Given the description of an element on the screen output the (x, y) to click on. 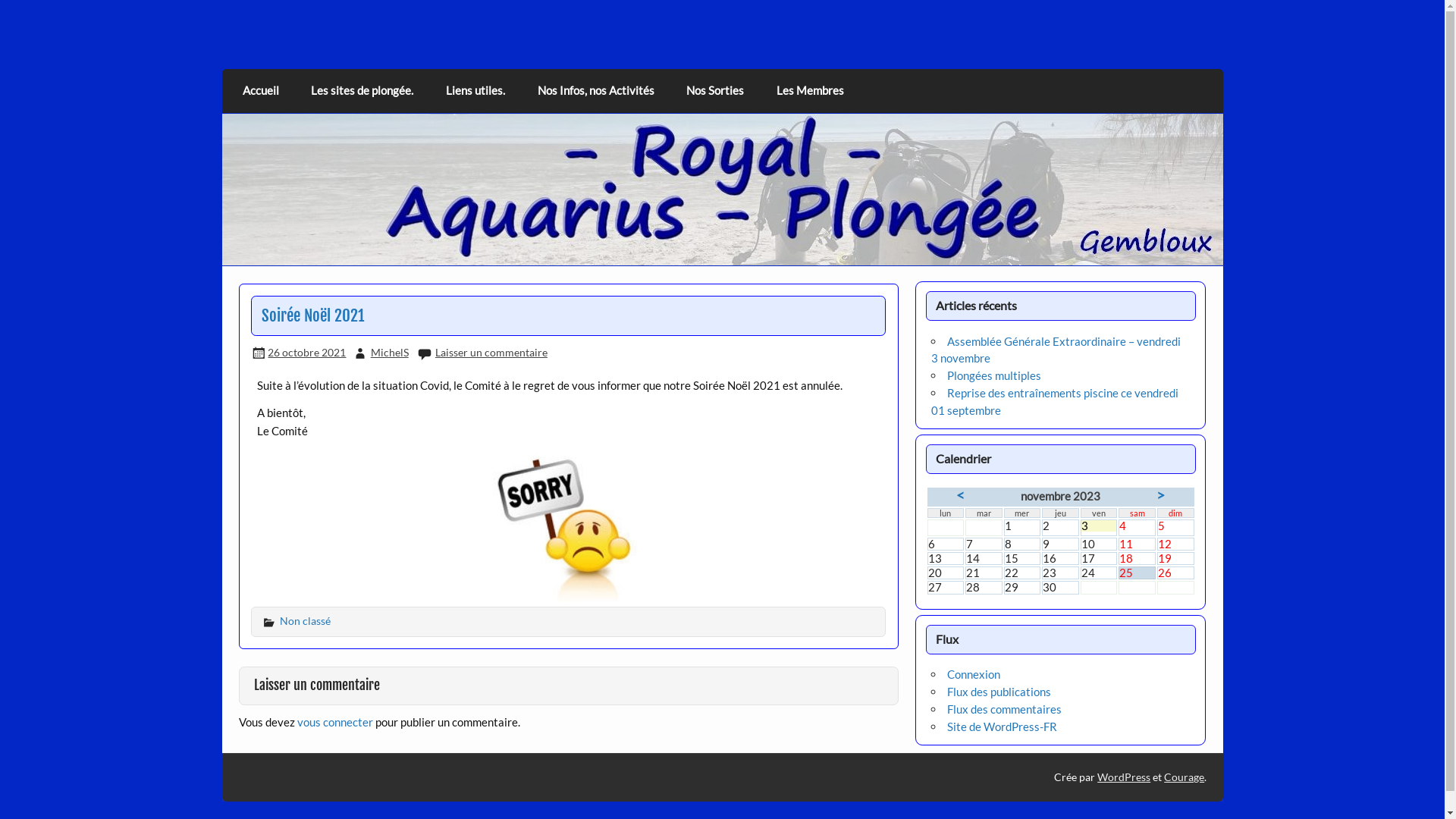
Aquarius Element type: text (291, 62)
Flux des publications Element type: text (999, 691)
vous connecter Element type: text (335, 721)
WordPress Element type: text (1123, 776)
Courage Element type: text (1184, 776)
Flux des commentaires Element type: text (1004, 708)
Les Membres Element type: text (809, 90)
Site de WordPress-FR Element type: text (1002, 726)
Liens utiles. Element type: text (475, 90)
26 octobre 2021 Element type: text (306, 351)
Laisser un commentaire Element type: text (491, 351)
< Element type: text (960, 493)
Nos Sorties Element type: text (715, 90)
3 Element type: text (1099, 525)
Connexion Element type: text (973, 673)
> Element type: text (1160, 493)
MichelS Element type: text (389, 351)
Accueil Element type: text (260, 90)
